Given the description of an element on the screen output the (x, y) to click on. 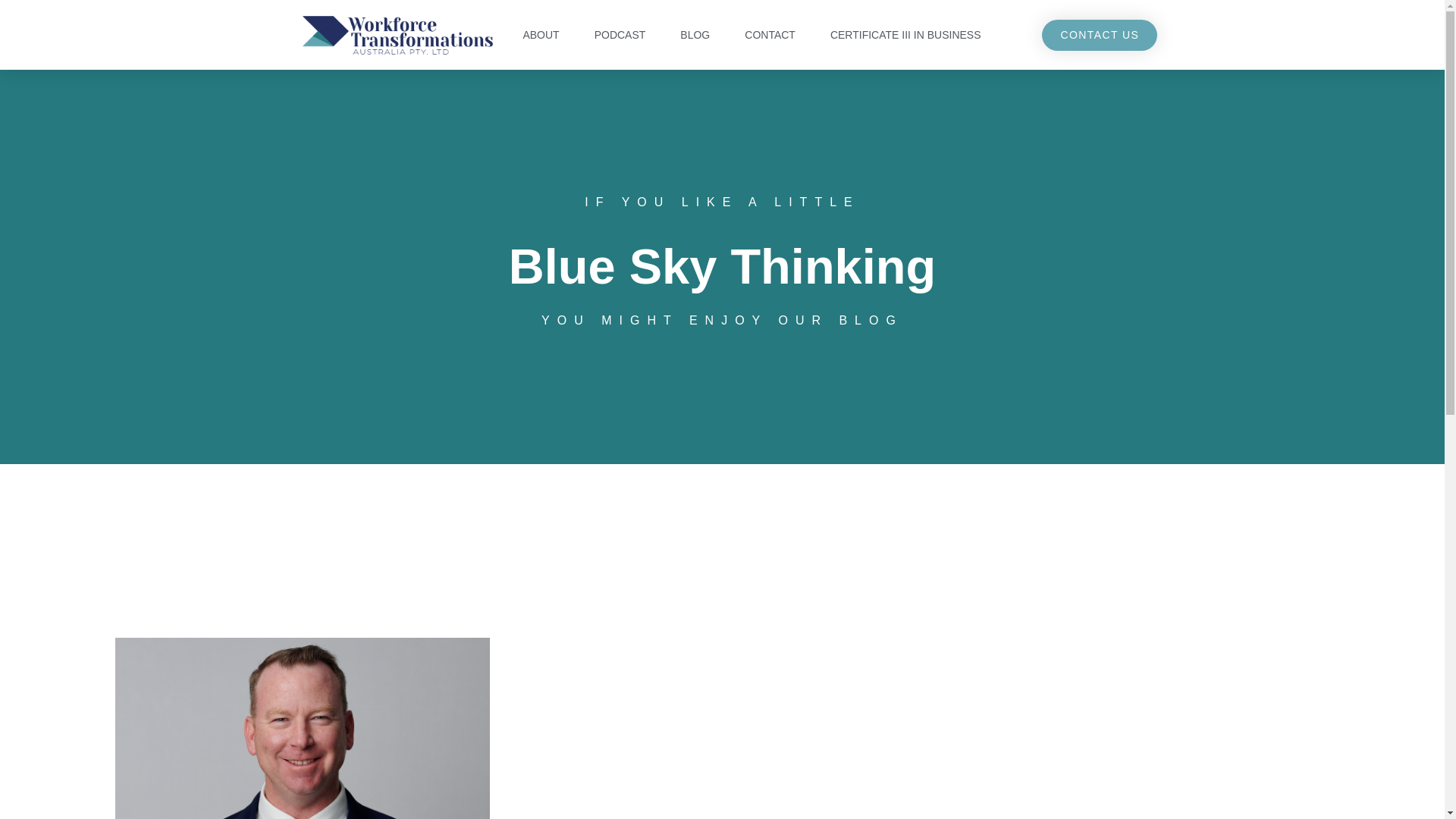
PODCAST (620, 34)
CONTACT (769, 34)
CONTACT US (1099, 34)
ABOUT (539, 34)
CERTIFICATE III IN BUSINESS (905, 34)
